Given the description of an element on the screen output the (x, y) to click on. 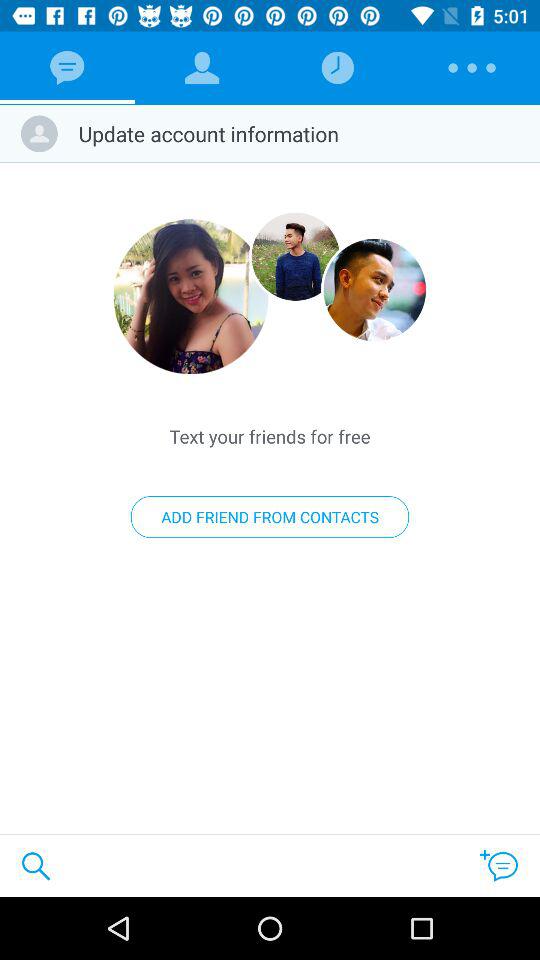
flip until the add friend from (269, 517)
